Given the description of an element on the screen output the (x, y) to click on. 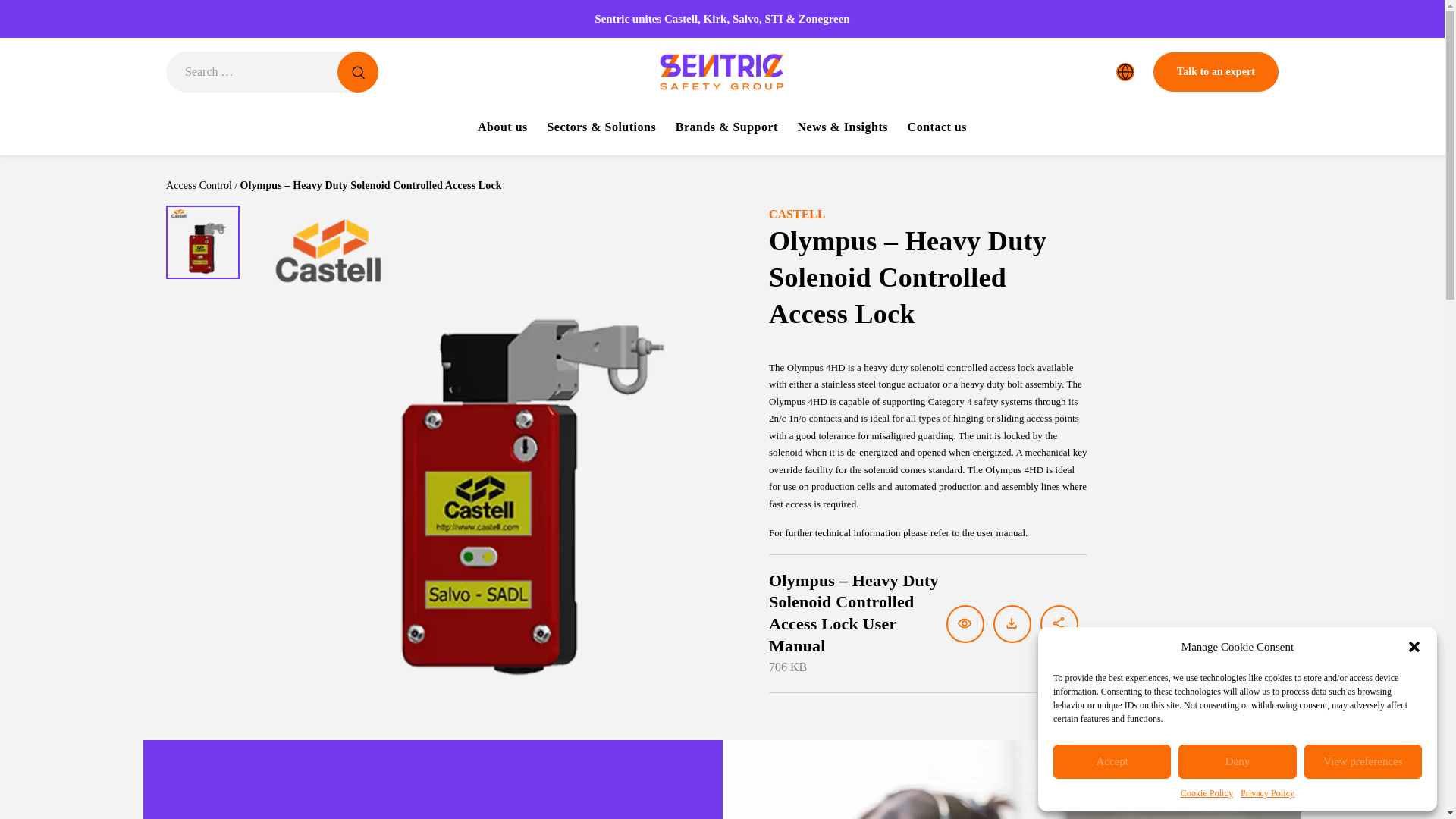
Privacy Policy (1267, 793)
View preferences (1363, 761)
Cookie Policy (1206, 793)
About us (502, 130)
Accept (1111, 761)
Deny (1236, 761)
